Given the description of an element on the screen output the (x, y) to click on. 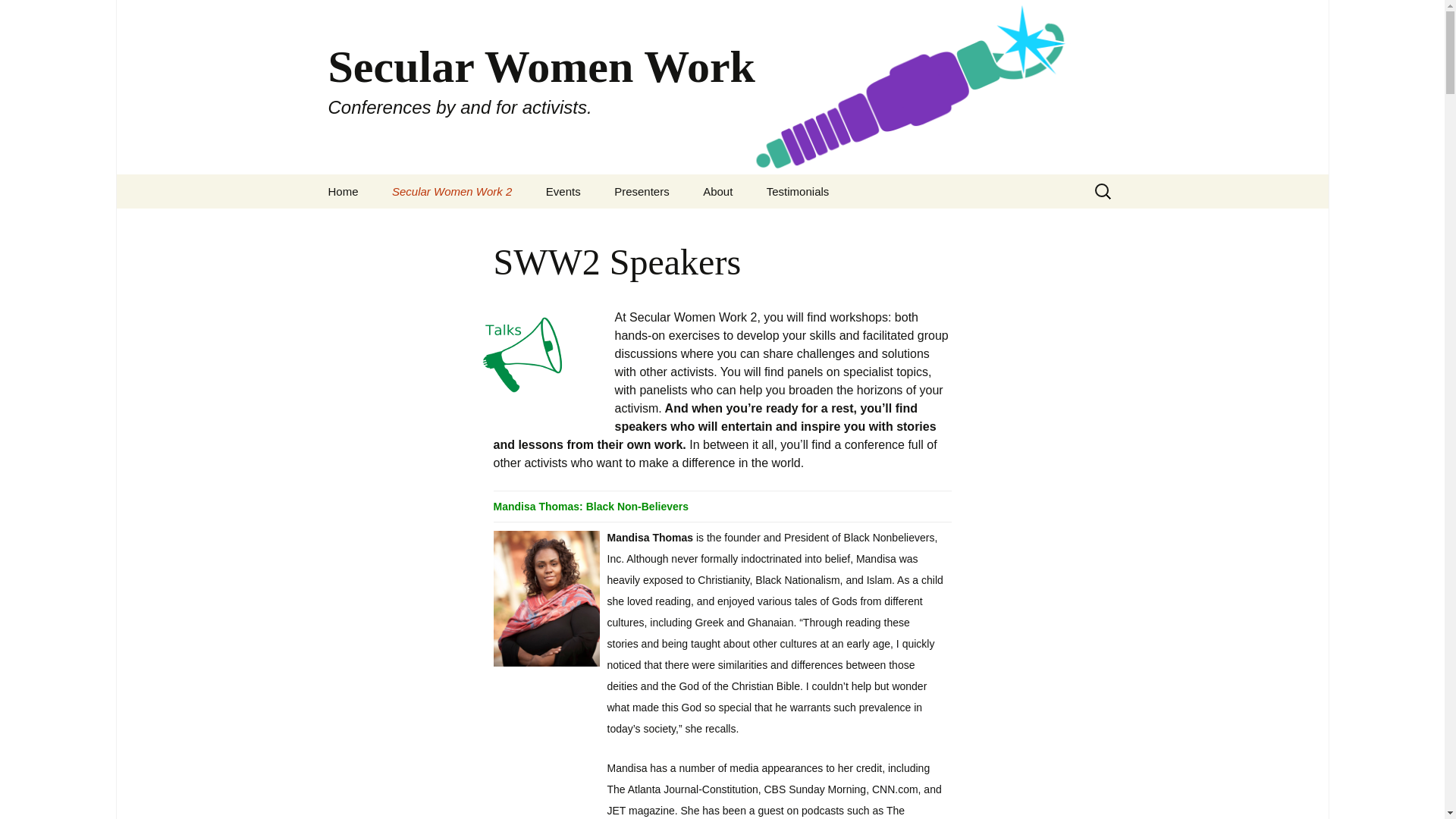
Skepticon 11 (606, 225)
About (717, 191)
Home (342, 191)
Secular Women Work (763, 225)
Presenters (641, 191)
Events (563, 191)
Testimonials (797, 191)
SWW (674, 225)
Schedule (452, 225)
Skepticon (674, 225)
